Given the description of an element on the screen output the (x, y) to click on. 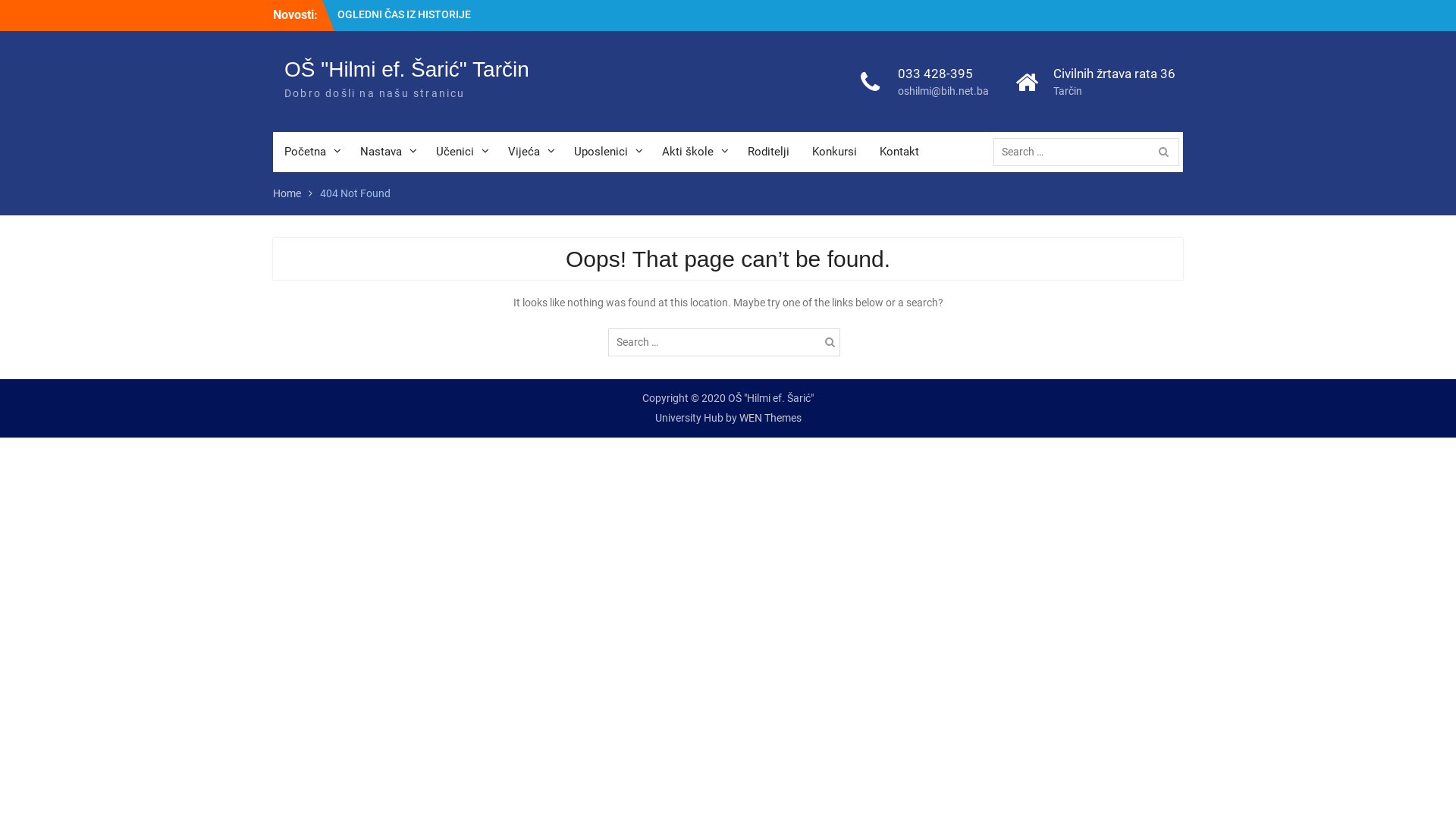
Konkursi Element type: text (834, 151)
WEN Themes Element type: text (769, 417)
Kontakt Element type: text (899, 151)
Uposlenici Element type: text (606, 151)
033 428-395 Element type: text (943, 74)
Roditelji Element type: text (768, 151)
Nastava Element type: text (386, 151)
oshilmi@bih.net.ba Element type: text (943, 91)
Home Element type: text (287, 192)
